Given the description of an element on the screen output the (x, y) to click on. 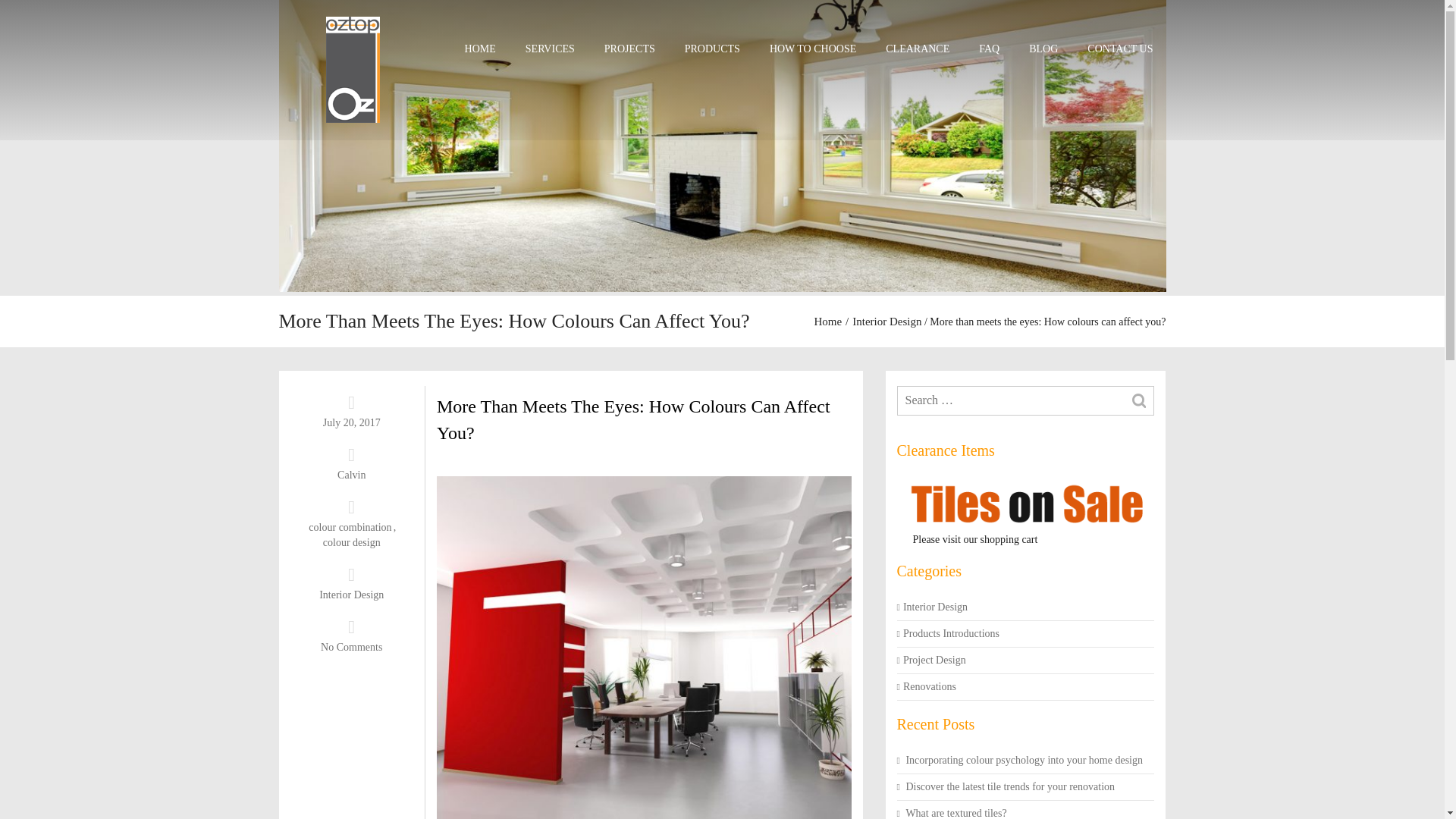
PROJECTS (629, 49)
BLOG (1043, 49)
PRODUCTS (711, 49)
FAQ (988, 49)
Search (1139, 401)
HOME (479, 49)
Search (1139, 401)
CONTACT US (1120, 49)
CLEARANCE (917, 49)
HOW TO CHOOSE (813, 49)
SERVICES (550, 49)
